Given the description of an element on the screen output the (x, y) to click on. 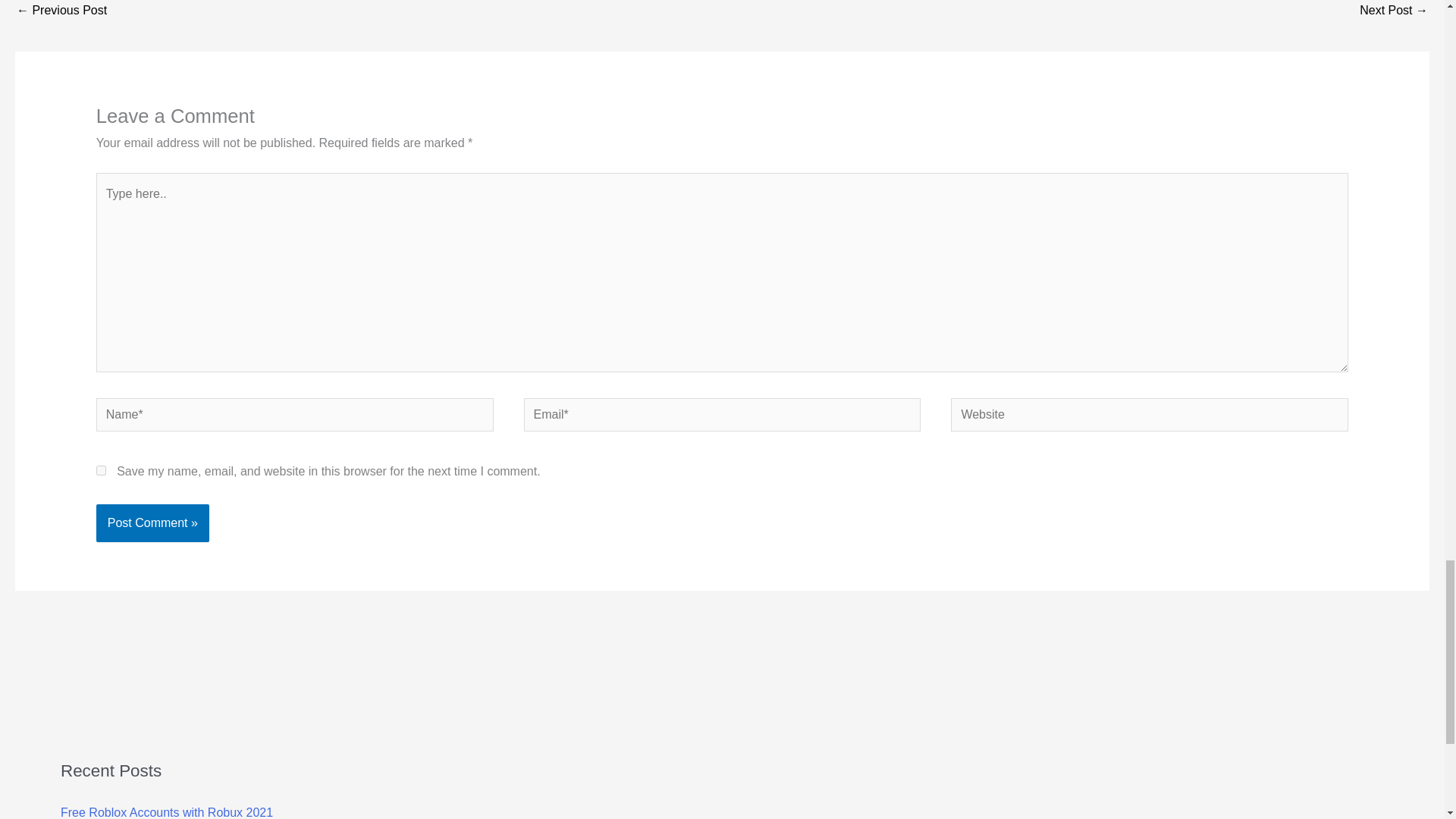
yes (101, 470)
Free Roblox Accounts with Robux 2021 (167, 812)
